Given the description of an element on the screen output the (x, y) to click on. 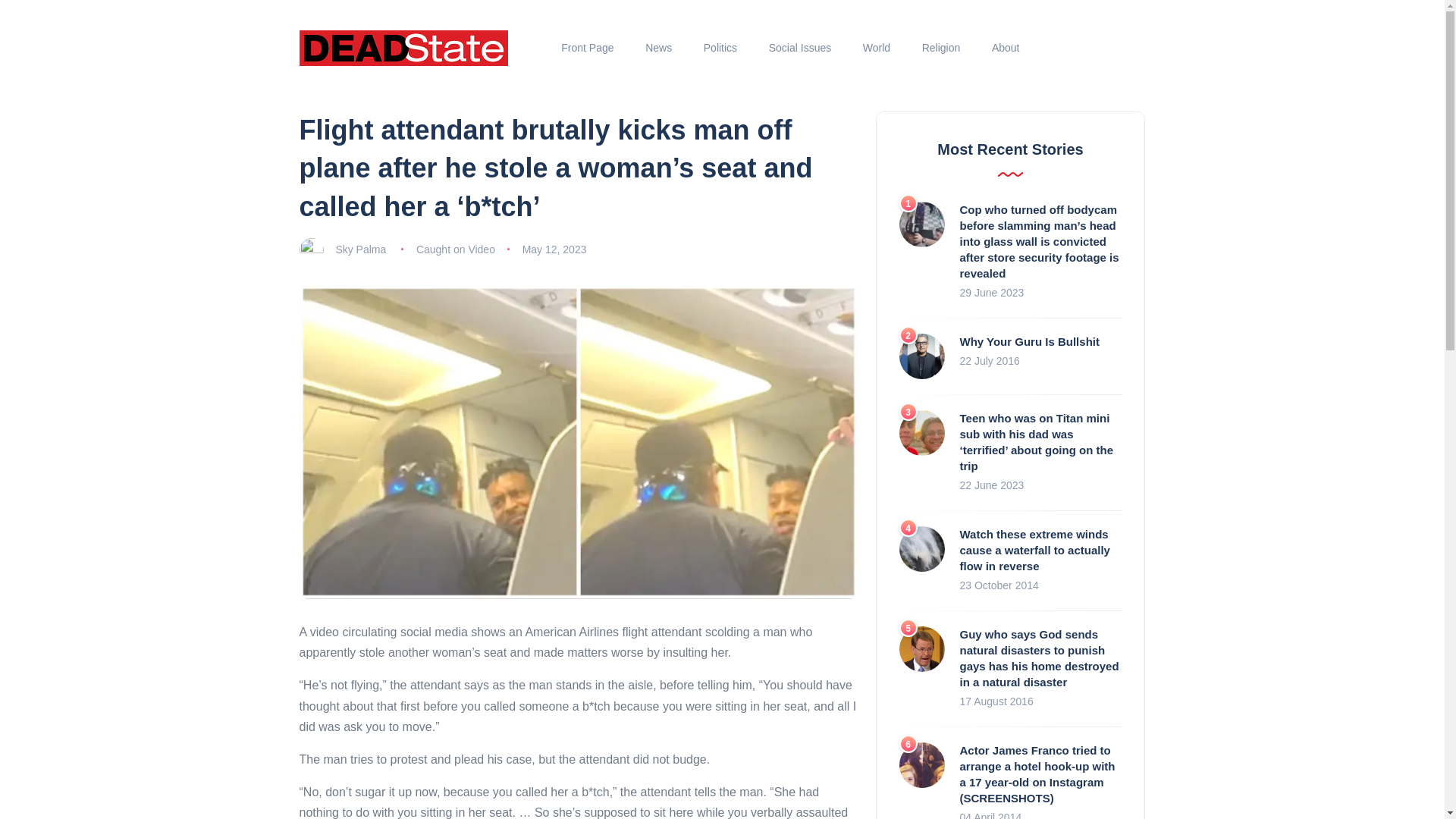
Social Issues (799, 47)
Religion (940, 47)
Posts by Sky Palma (359, 249)
About (1005, 47)
News (657, 47)
Front Page (588, 47)
Caught on Video (455, 249)
Sky Palma (359, 249)
World (876, 47)
Politics (719, 47)
